Given the description of an element on the screen output the (x, y) to click on. 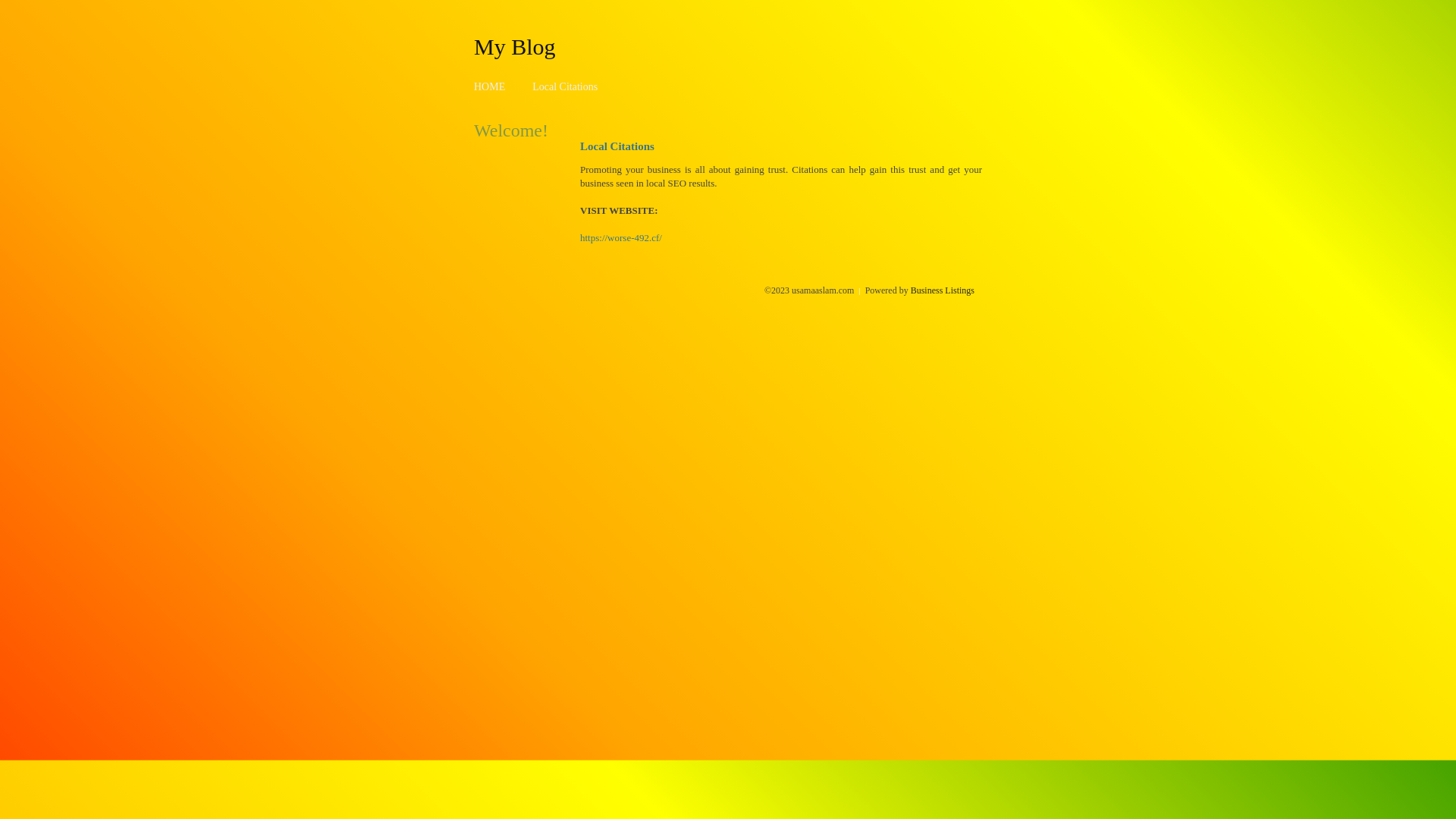
HOME Element type: text (489, 86)
Local Citations Element type: text (564, 86)
https://worse-492.cf/ Element type: text (621, 237)
My Blog Element type: text (514, 46)
Business Listings Element type: text (942, 290)
